Given the description of an element on the screen output the (x, y) to click on. 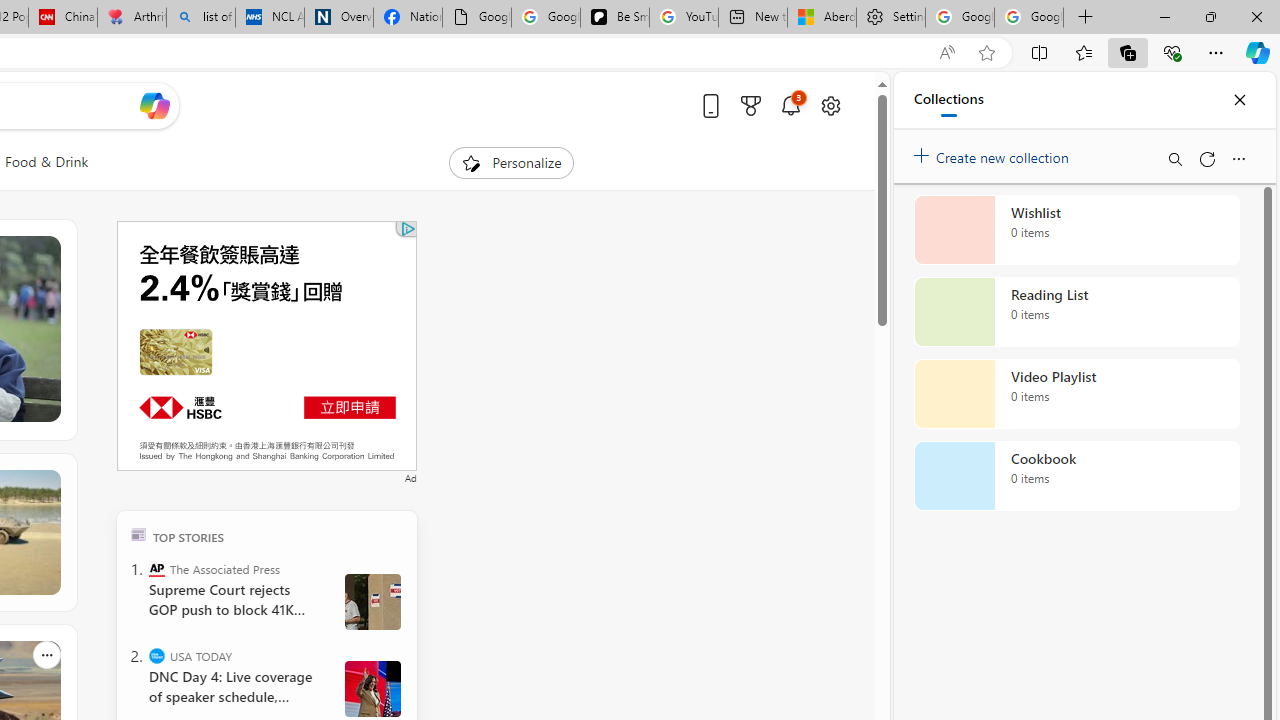
list of asthma inhalers uk - Search (200, 17)
Class: qc-adchoices-icon (407, 228)
AutomationID: canvas (266, 345)
NCL Adult Asthma Inhaler Choice Guideline (269, 17)
Wishlist collection, 0 items (1076, 229)
Microsoft rewards (749, 105)
